Given the description of an element on the screen output the (x, y) to click on. 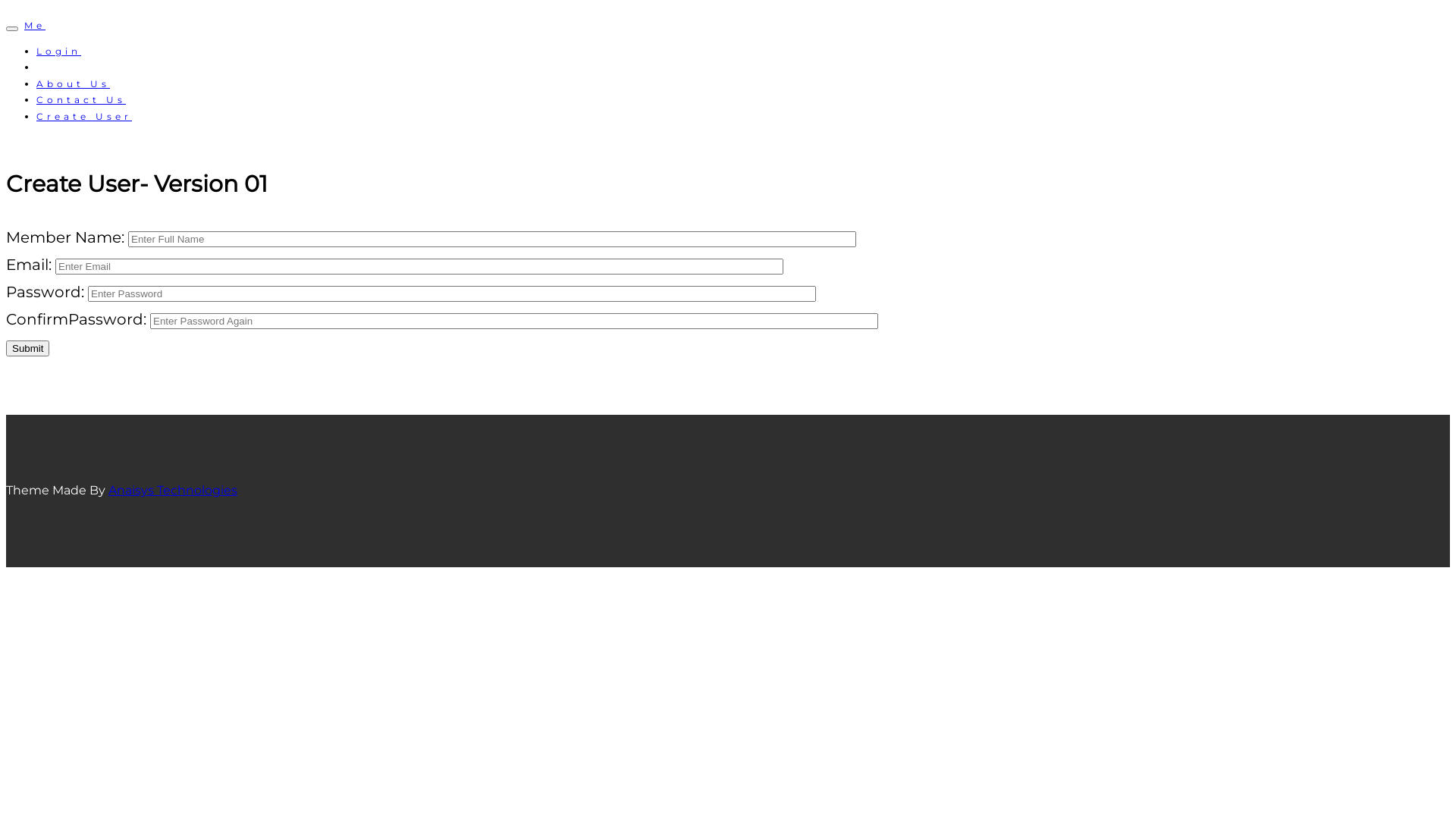
About Us Element type: text (72, 83)
Anaisys Technologies Element type: text (172, 490)
Me Element type: text (34, 25)
Login Element type: text (58, 50)
Contact Us Element type: text (80, 99)
Create User Element type: text (83, 116)
Submit Element type: text (27, 348)
